Given the description of an element on the screen output the (x, y) to click on. 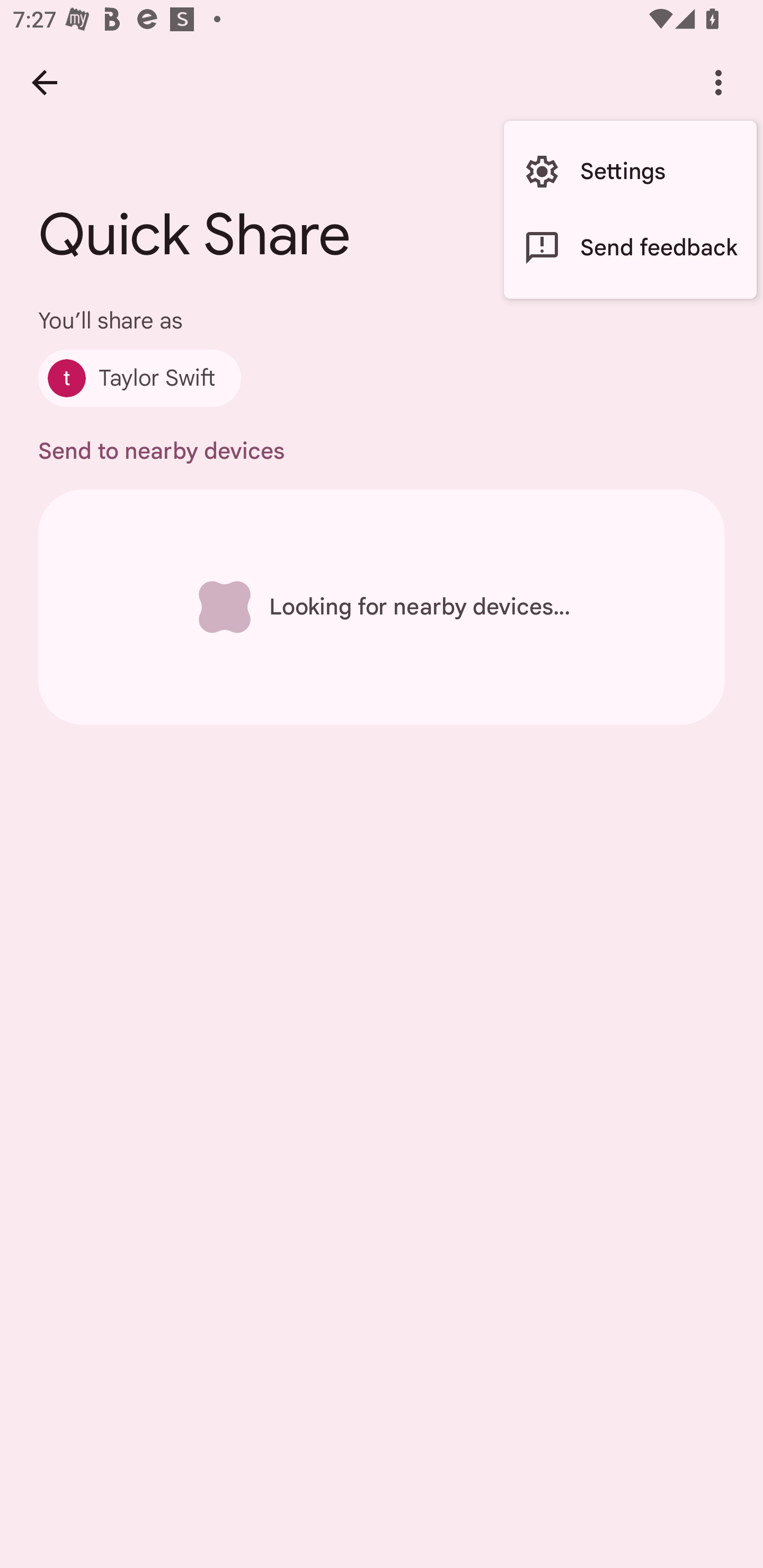
Settings (629, 171)
Send feedback (629, 247)
